Given the description of an element on the screen output the (x, y) to click on. 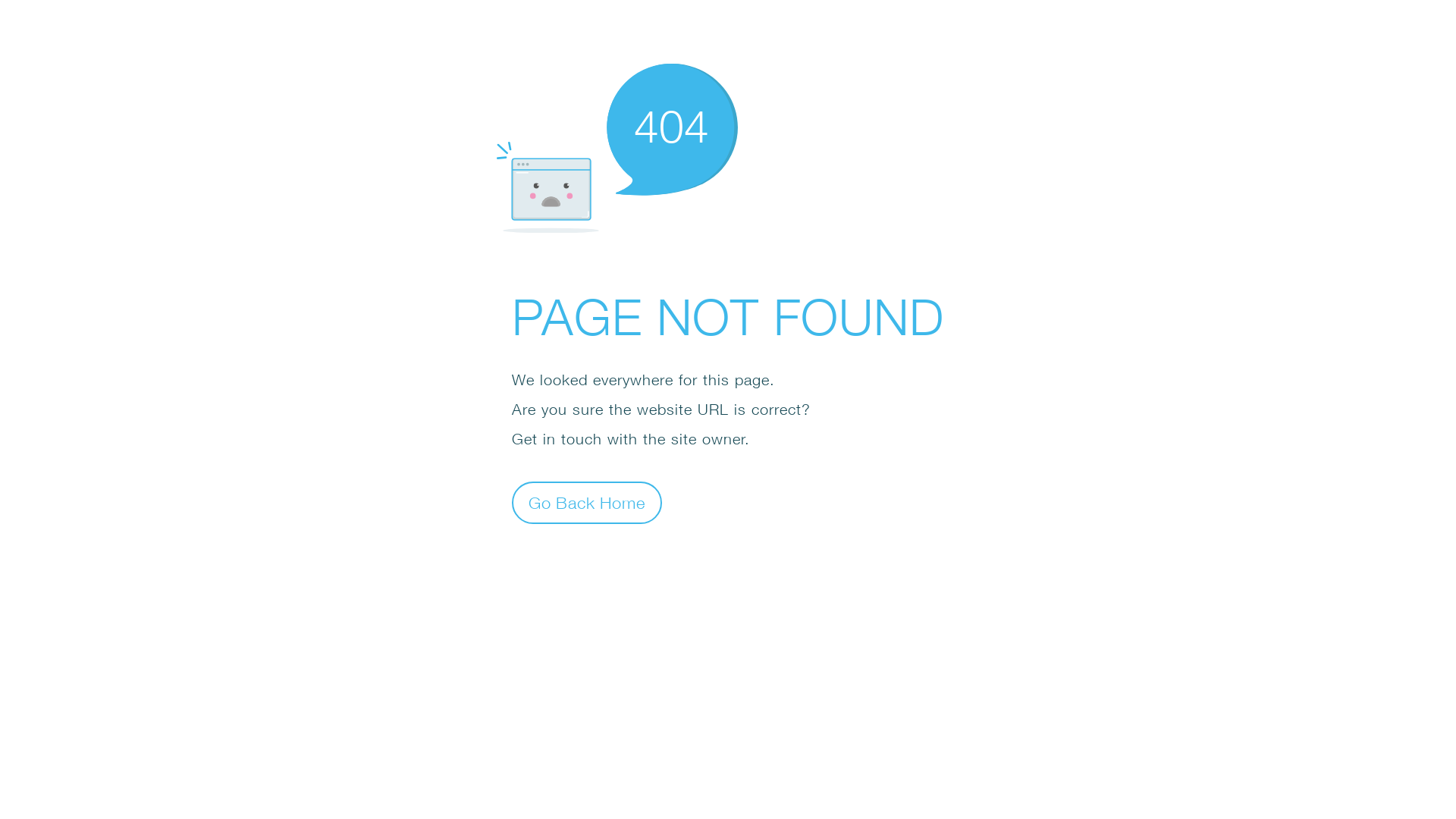
Go Back Home Element type: text (586, 502)
